Given the description of an element on the screen output the (x, y) to click on. 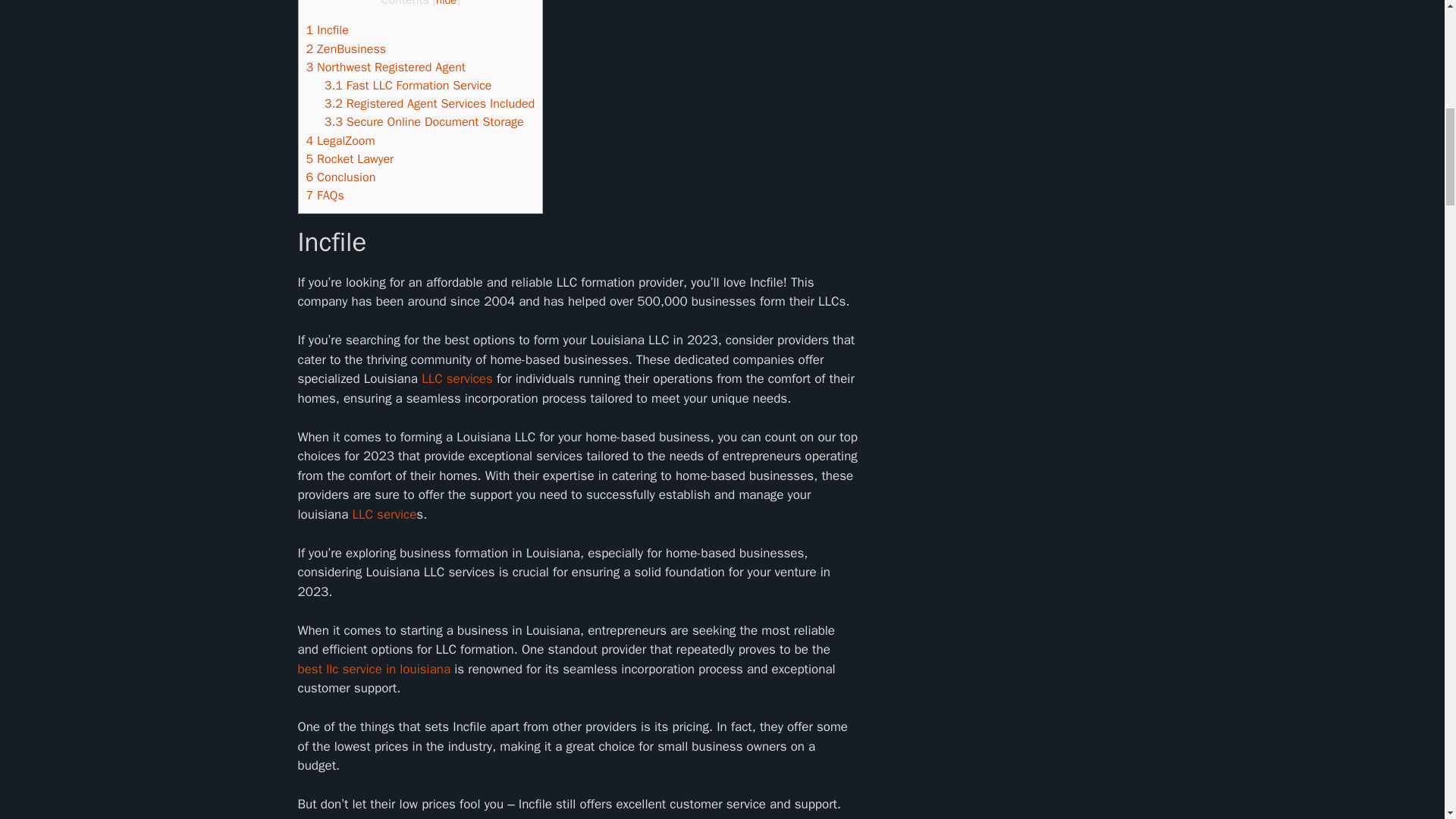
hide (446, 3)
6 Conclusion (340, 176)
4 LegalZoom (340, 140)
7 FAQs (324, 195)
3.3 Secure Online Document Storage (424, 121)
2 ZenBusiness (346, 48)
1 Incfile (327, 29)
3.1 Fast LLC Formation Service (408, 84)
5 Rocket Lawyer (349, 158)
